Given the description of an element on the screen output the (x, y) to click on. 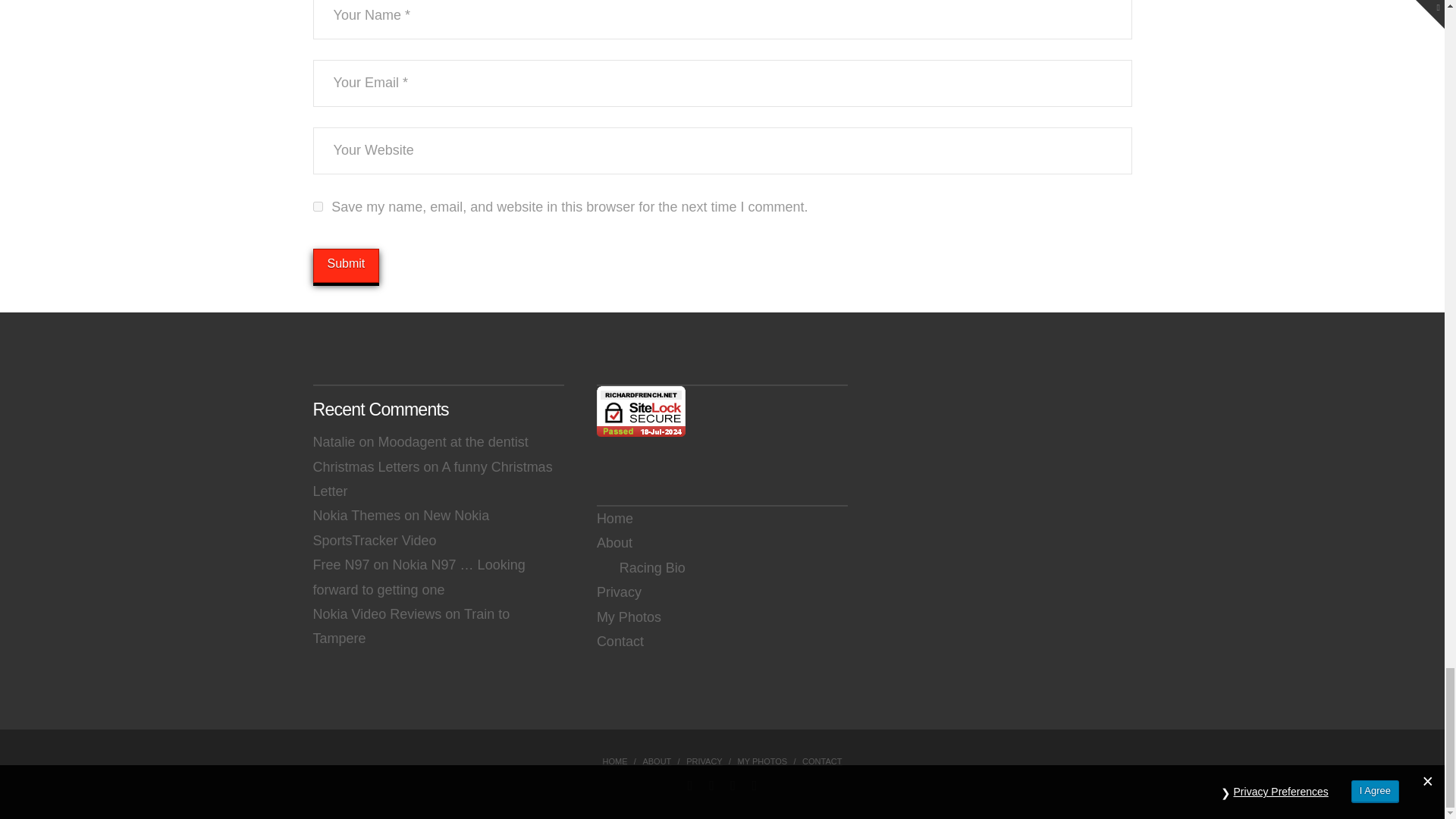
Racing Bio (640, 567)
My Photos (628, 617)
Privacy (619, 591)
Christmas Letters (366, 467)
Nokia Video Reviews (377, 613)
Nokia Themes (356, 515)
Train to Tampere (411, 626)
New Nokia SportsTracker Video (401, 527)
Submit (345, 265)
A funny Christmas Letter (432, 478)
Free N97 (341, 564)
Submit (345, 265)
Natalie (334, 441)
About (613, 542)
SiteLock (640, 410)
